Given the description of an element on the screen output the (x, y) to click on. 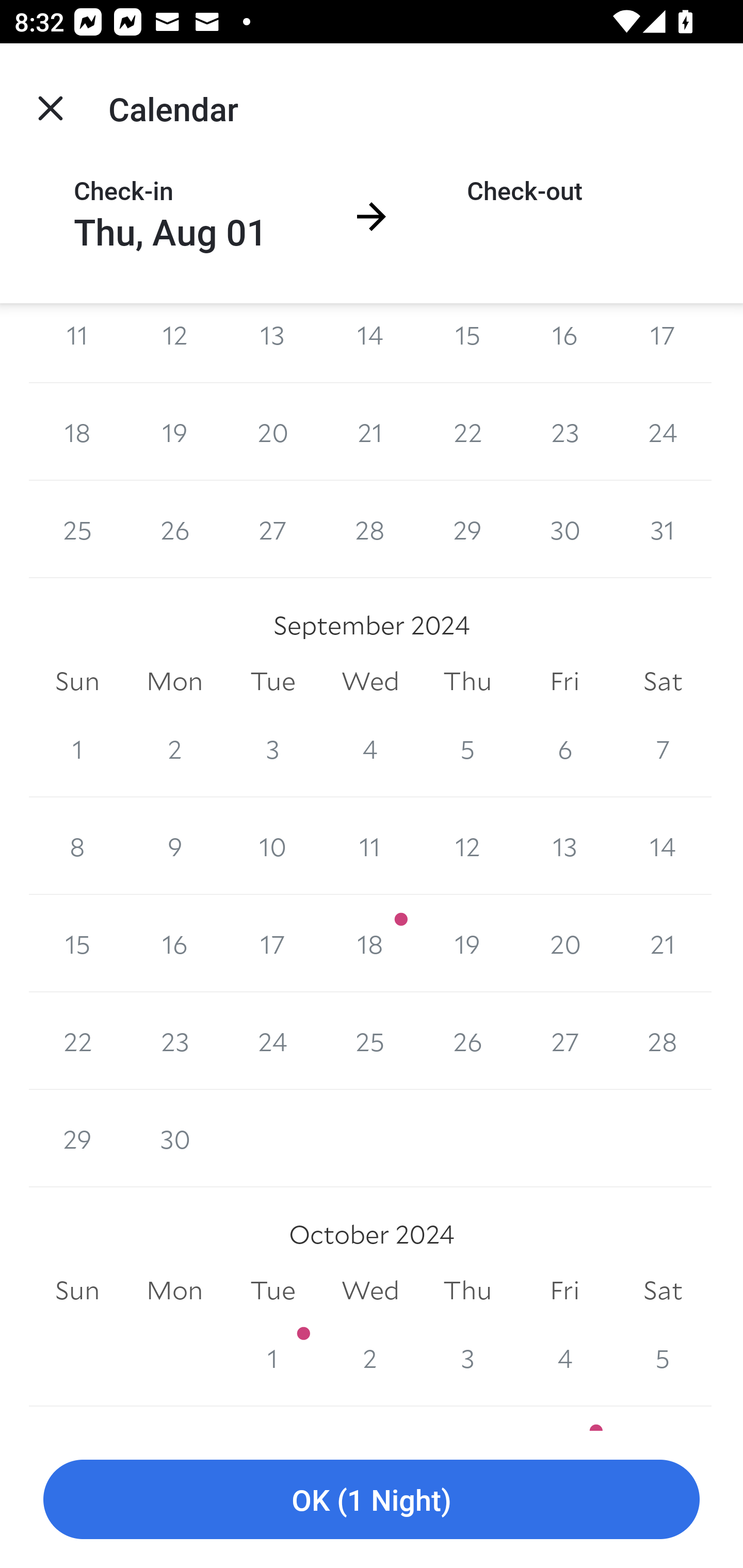
11 11 August 2024 (77, 342)
12 12 August 2024 (174, 342)
13 13 August 2024 (272, 342)
14 14 August 2024 (370, 342)
15 15 August 2024 (467, 342)
16 16 August 2024 (564, 342)
17 17 August 2024 (662, 342)
18 18 August 2024 (77, 431)
19 19 August 2024 (174, 431)
20 20 August 2024 (272, 431)
21 21 August 2024 (370, 431)
22 22 August 2024 (467, 431)
23 23 August 2024 (564, 431)
24 24 August 2024 (662, 431)
25 25 August 2024 (77, 529)
26 26 August 2024 (174, 529)
27 27 August 2024 (272, 529)
28 28 August 2024 (370, 529)
29 29 August 2024 (467, 529)
30 30 August 2024 (564, 529)
31 31 August 2024 (662, 529)
Sun (77, 681)
Mon (174, 681)
Tue (272, 681)
Wed (370, 681)
Thu (467, 681)
Fri (564, 681)
Sat (662, 681)
1 1 September 2024 (77, 748)
2 2 September 2024 (174, 748)
3 3 September 2024 (272, 748)
4 4 September 2024 (370, 748)
5 5 September 2024 (467, 748)
6 6 September 2024 (564, 748)
7 7 September 2024 (662, 748)
8 8 September 2024 (77, 846)
9 9 September 2024 (174, 846)
10 10 September 2024 (272, 846)
11 11 September 2024 (370, 846)
12 12 September 2024 (467, 846)
13 13 September 2024 (564, 846)
14 14 September 2024 (662, 846)
15 15 September 2024 (77, 943)
16 16 September 2024 (174, 943)
17 17 September 2024 (272, 943)
18 18 September 2024 (370, 943)
19 19 September 2024 (467, 943)
20 20 September 2024 (564, 943)
21 21 September 2024 (662, 943)
22 22 September 2024 (77, 1040)
23 23 September 2024 (174, 1040)
24 24 September 2024 (272, 1040)
25 25 September 2024 (370, 1040)
26 26 September 2024 (467, 1040)
27 27 September 2024 (564, 1040)
28 28 September 2024 (662, 1040)
29 29 September 2024 (77, 1137)
30 30 September 2024 (174, 1137)
Sun (77, 1290)
Mon (174, 1290)
Tue (272, 1290)
Wed (370, 1290)
Thu (467, 1290)
Fri (564, 1290)
Sat (662, 1290)
1 1 October 2024 (272, 1357)
2 2 October 2024 (370, 1357)
3 3 October 2024 (467, 1357)
4 4 October 2024 (564, 1357)
5 5 October 2024 (662, 1357)
OK (1 Night) (371, 1499)
